Given the description of an element on the screen output the (x, y) to click on. 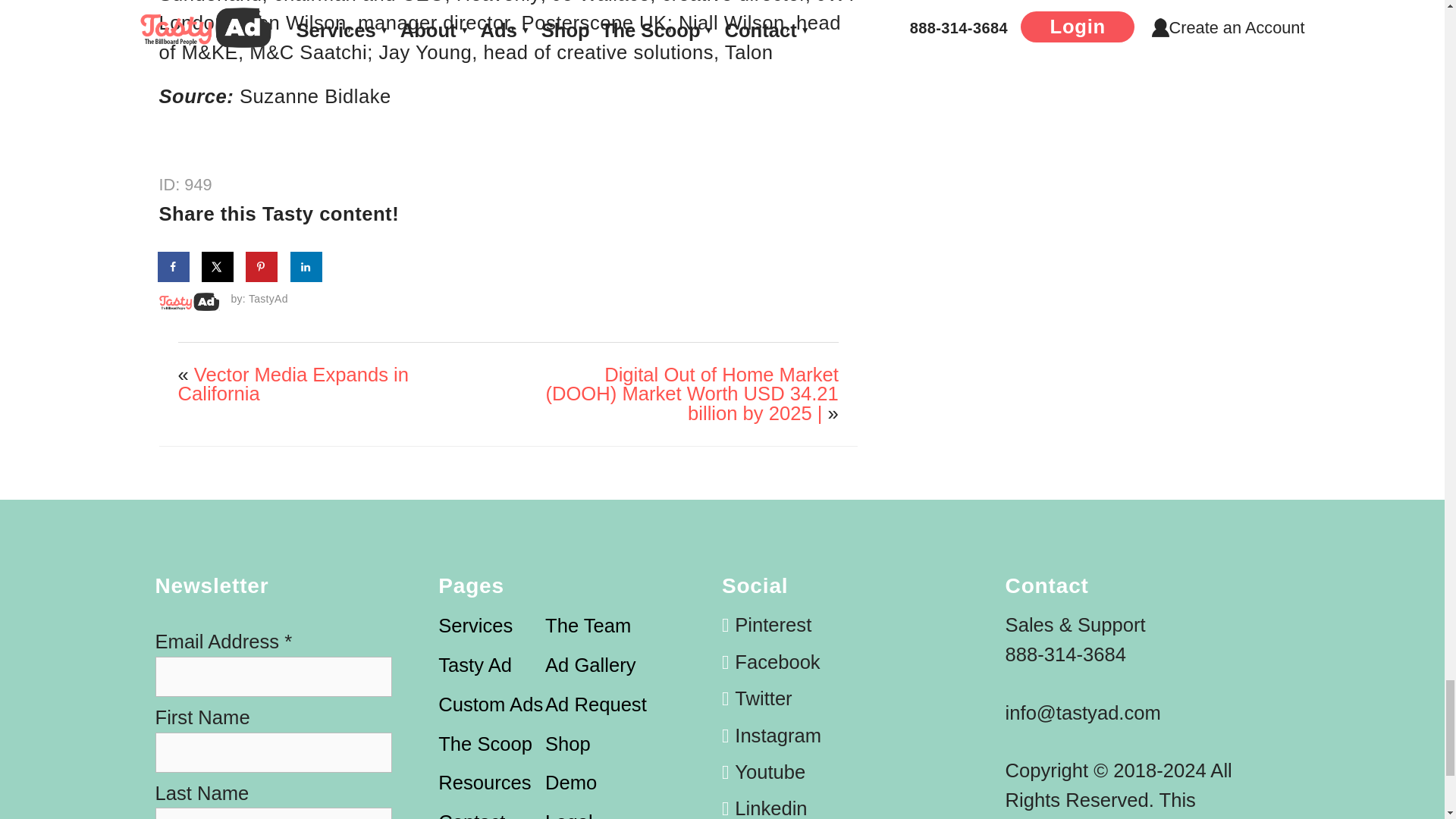
Share on Facebook (173, 266)
Share on LinkedIn (306, 266)
Share on X (217, 266)
Save to Pinterest (262, 266)
